Given the description of an element on the screen output the (x, y) to click on. 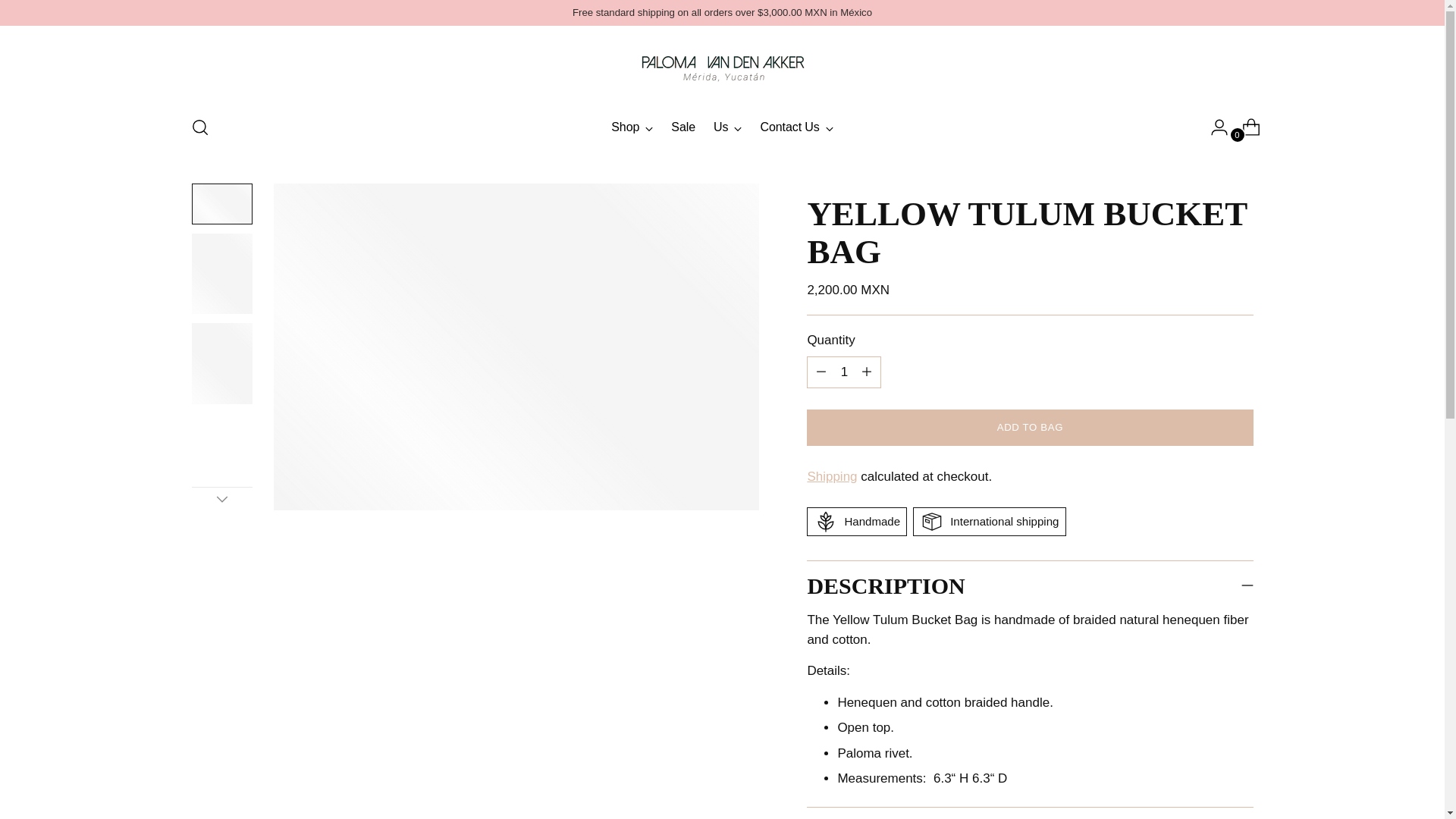
Contact Us (796, 127)
Down (220, 498)
1 (843, 372)
0 (1245, 127)
Shop (722, 127)
